Given the description of an element on the screen output the (x, y) to click on. 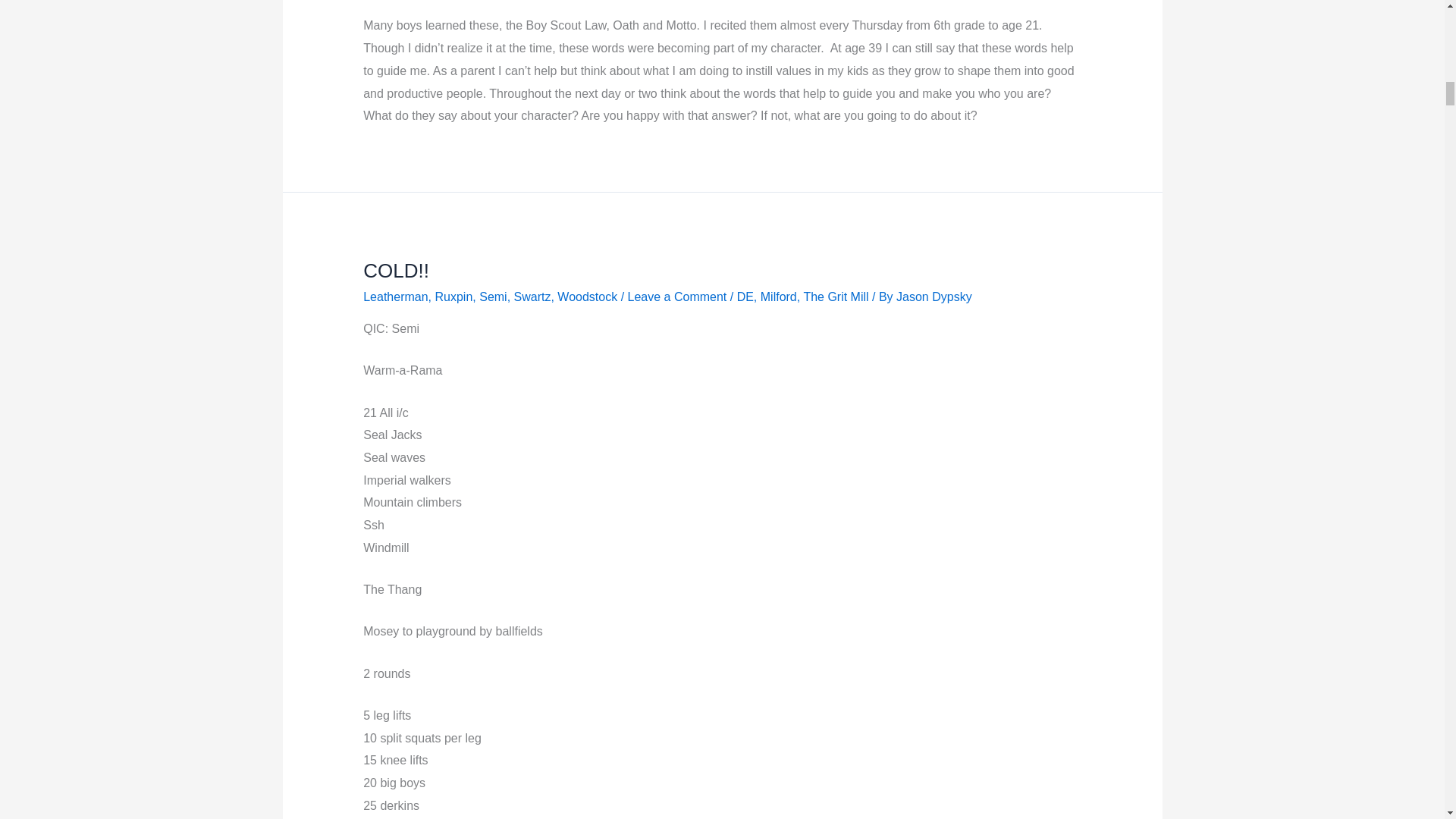
Swartz (532, 296)
Woodstock (587, 296)
Ruxpin (454, 296)
DE (745, 296)
Milford (778, 296)
Semi (492, 296)
Leave a Comment (676, 296)
COLD!! (395, 270)
Leatherman (395, 296)
View all posts by Jason Dypsky (934, 296)
